Given the description of an element on the screen output the (x, y) to click on. 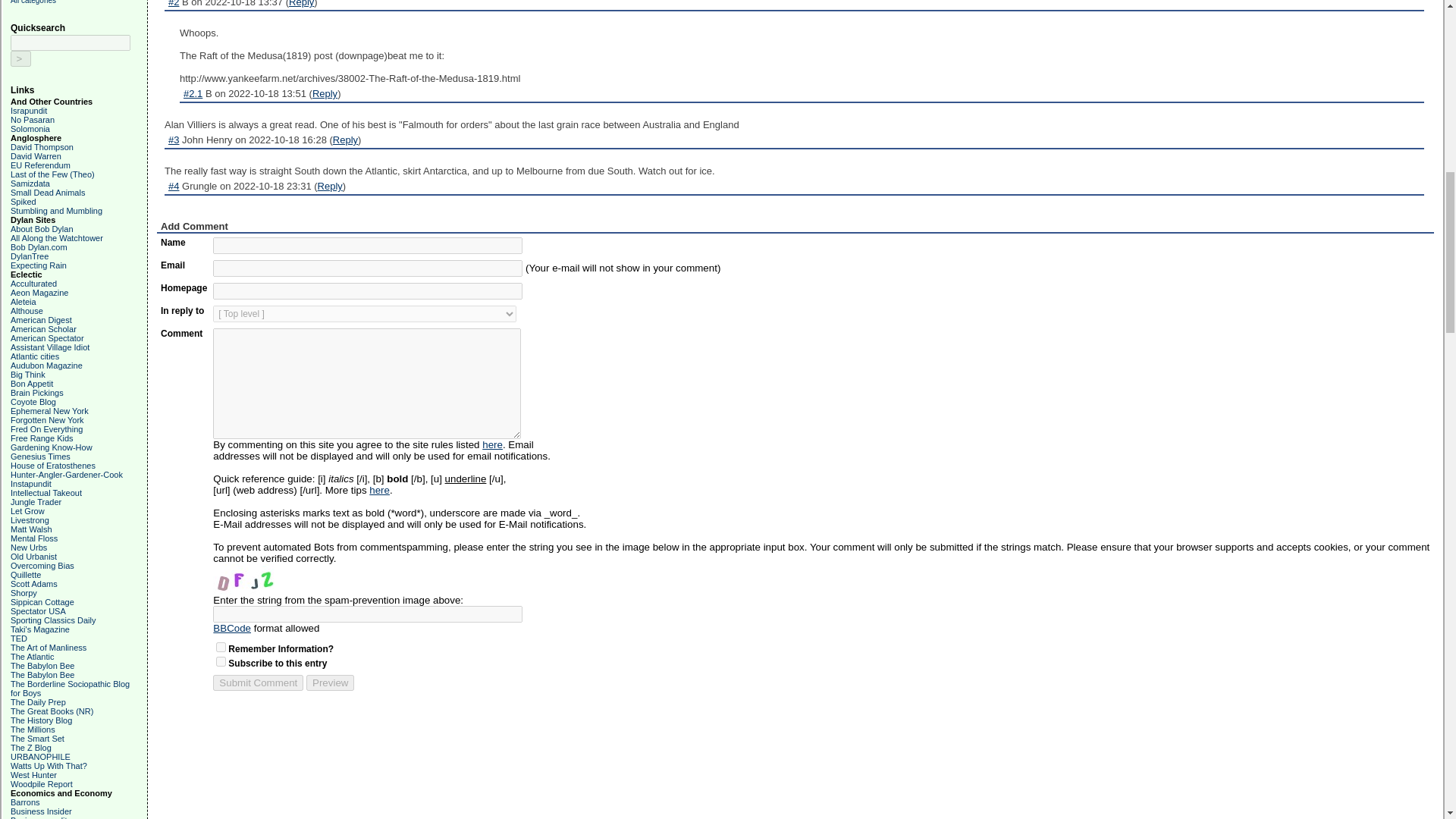
Preview (329, 682)
on (220, 661)
Submit Comment (257, 682)
on (220, 646)
